Given the description of an element on the screen output the (x, y) to click on. 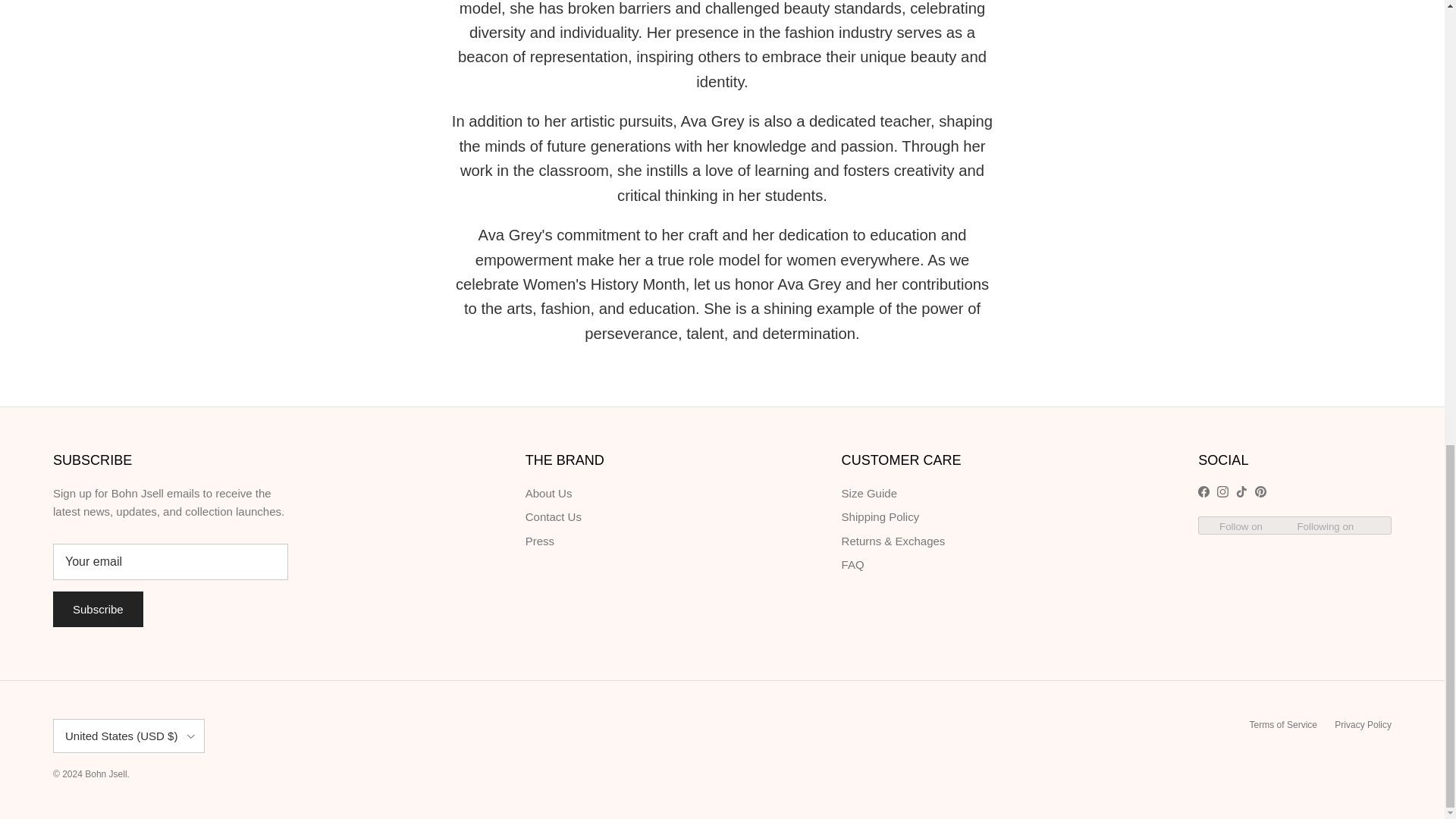
Bohn Jsell on Pinterest (1260, 491)
Bohn Jsell on TikTok (1241, 491)
Bohn Jsell on Instagram (1222, 491)
Bohn Jsell on Facebook (1203, 491)
